Given the description of an element on the screen output the (x, y) to click on. 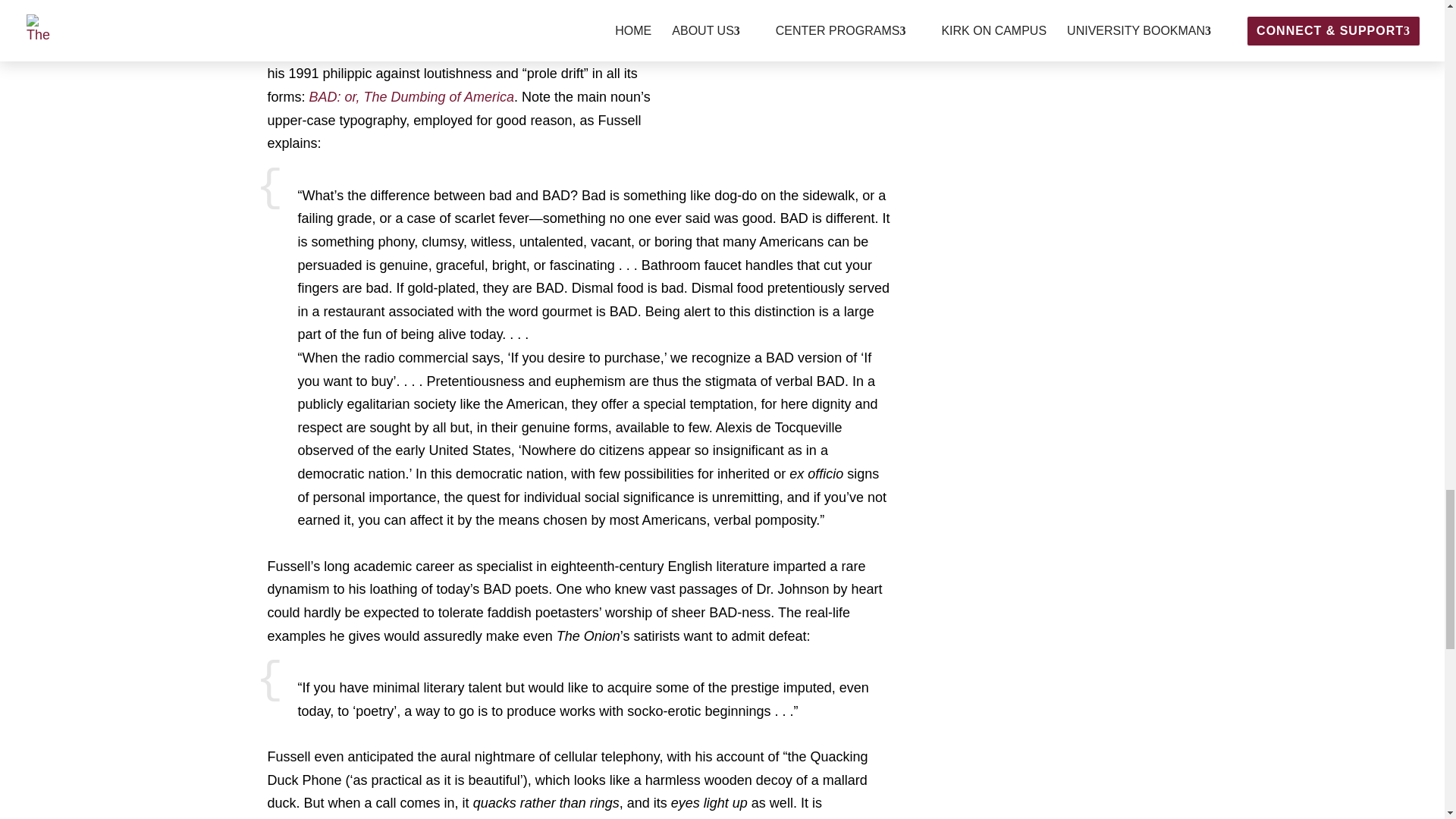
BAD: or, The Dumbing of America (410, 96)
Bourgeois Gentilhomme (547, 13)
